Given the description of an element on the screen output the (x, y) to click on. 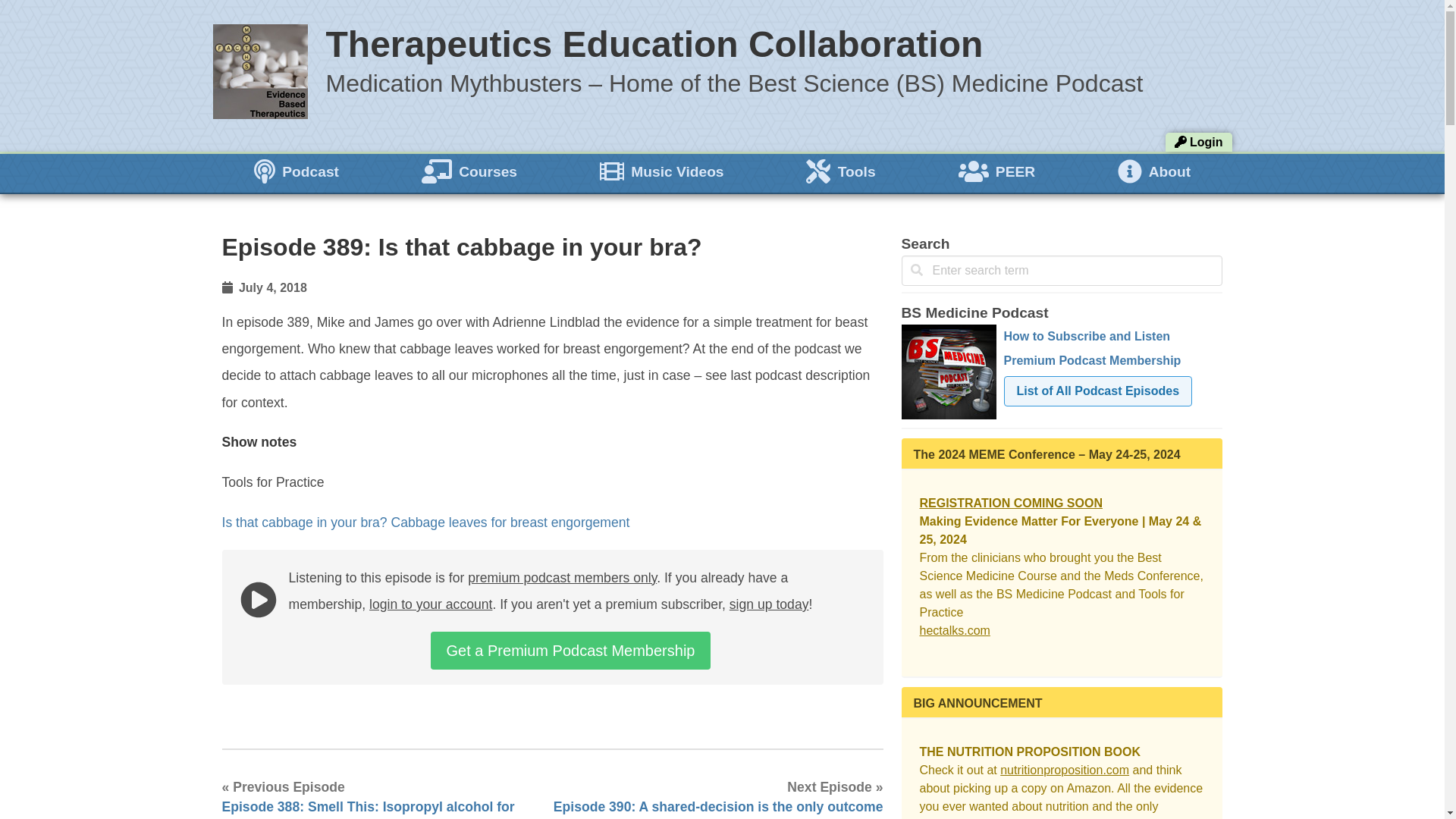
login to your account (430, 604)
How to Subscribe and Listen (1087, 336)
PEER (996, 170)
About (1154, 170)
Premium Podcast Membership (1092, 359)
Tools (840, 170)
Courses (469, 170)
REGISTRATION COMING SOON (1010, 502)
Login (1198, 141)
nutritionproposition.com (1064, 769)
Music Videos (661, 170)
sign up today (769, 604)
hectalks.com (954, 630)
Podcast (296, 170)
